Given the description of an element on the screen output the (x, y) to click on. 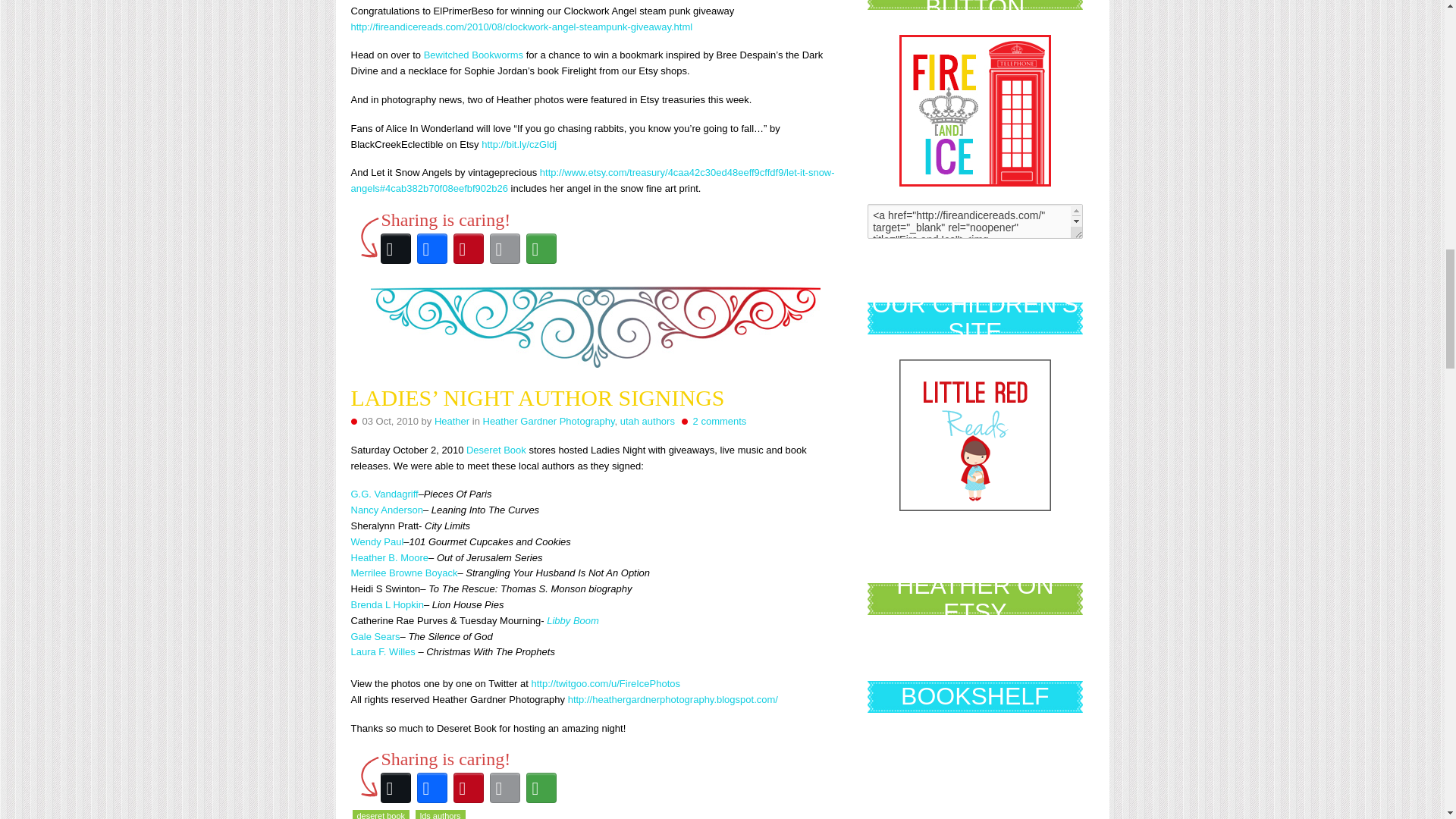
Facebook (431, 248)
Pinterest (467, 248)
Email This (504, 248)
